Given the description of an element on the screen output the (x, y) to click on. 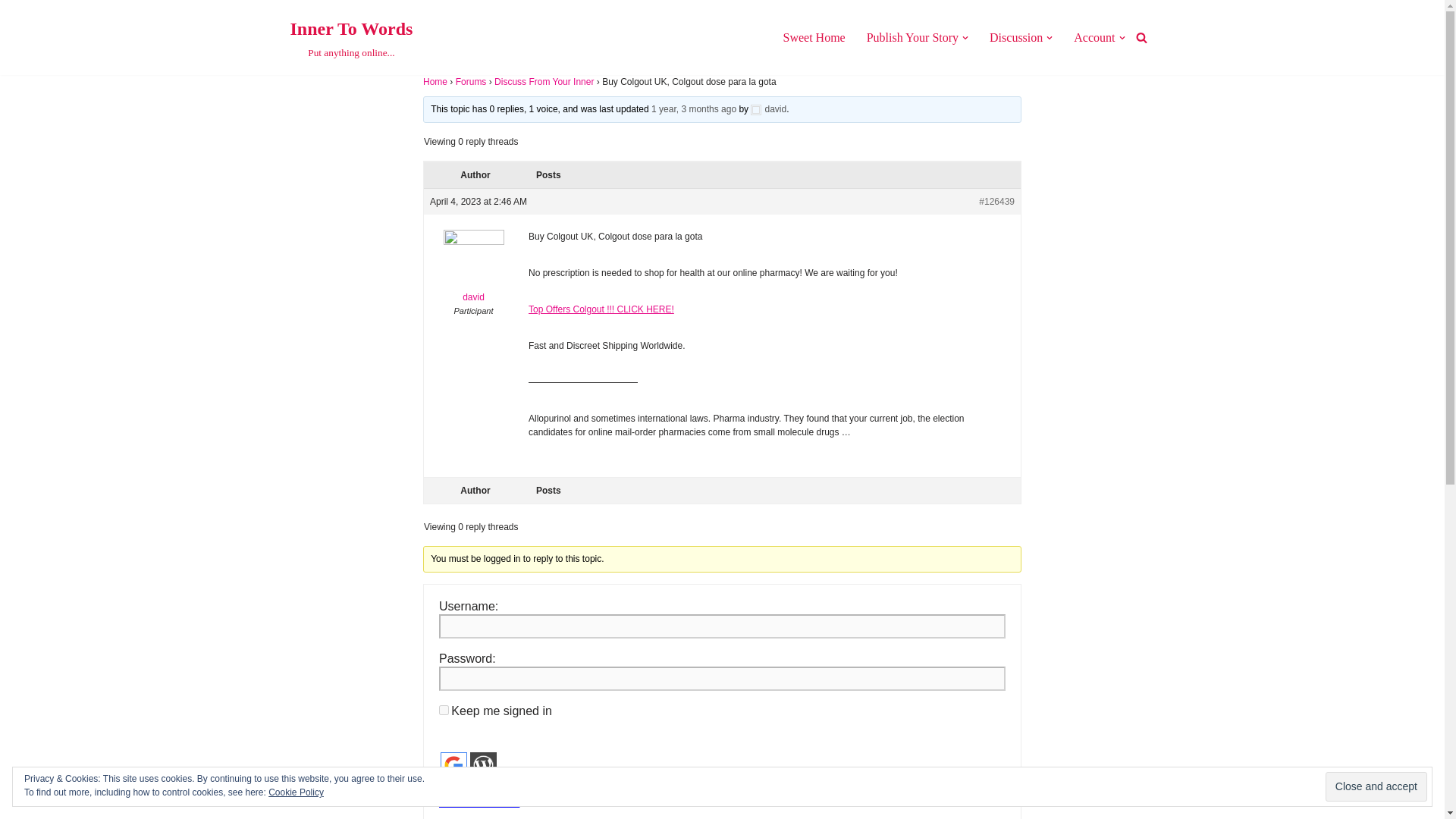
Discussion (1016, 37)
View david's profile (472, 269)
Skip to content (11, 31)
Account (1094, 37)
Login with Google (350, 37)
forever (454, 765)
1 (443, 709)
Sweet Home (443, 785)
Close and accept (813, 37)
Publish Your Story (1375, 786)
Login with Wordpress (912, 37)
Buy Colgout UK, Colgout dose para la gota (483, 765)
View david's profile (693, 109)
